Given the description of an element on the screen output the (x, y) to click on. 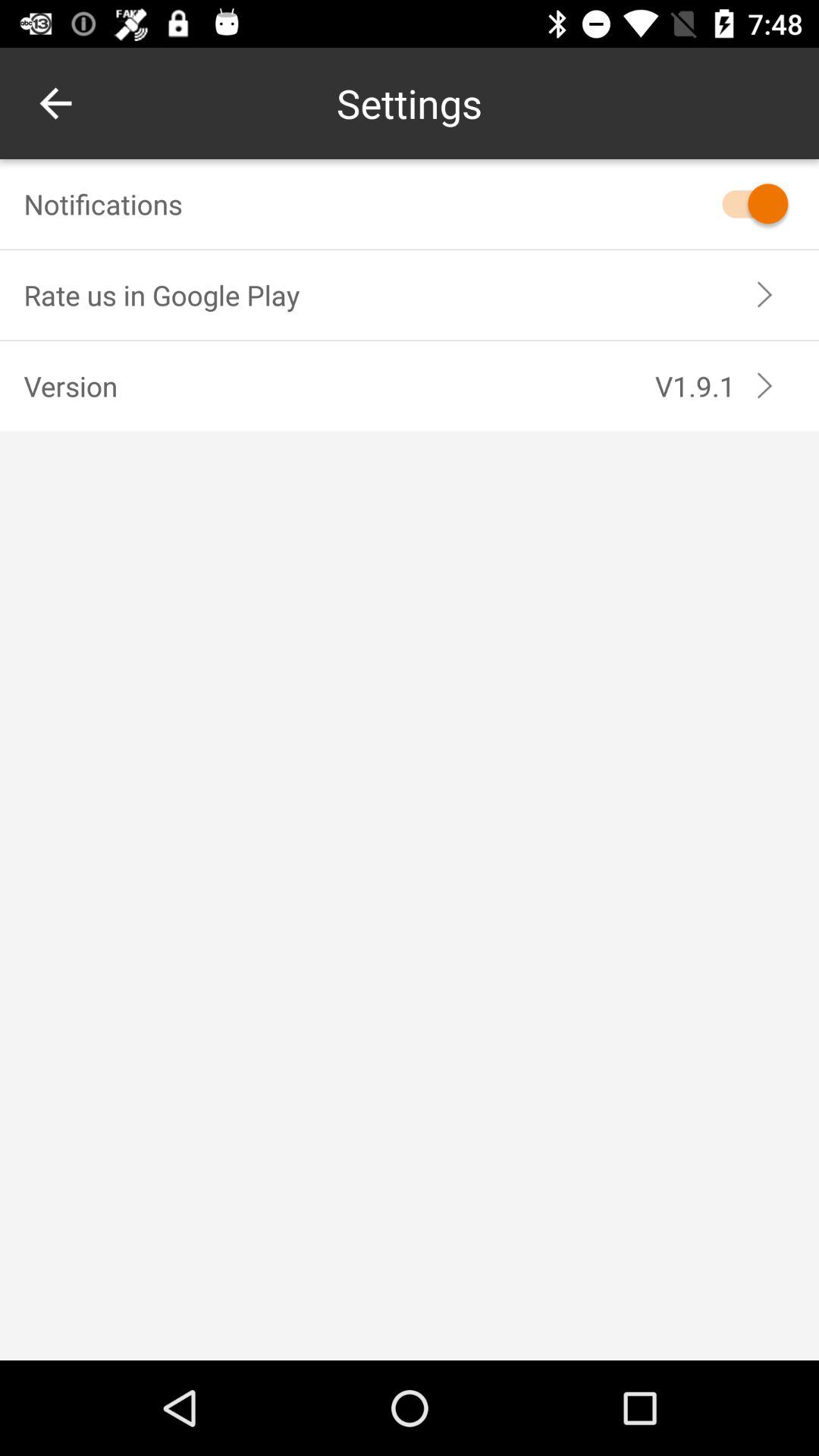
choose icon next to notifications (747, 203)
